Given the description of an element on the screen output the (x, y) to click on. 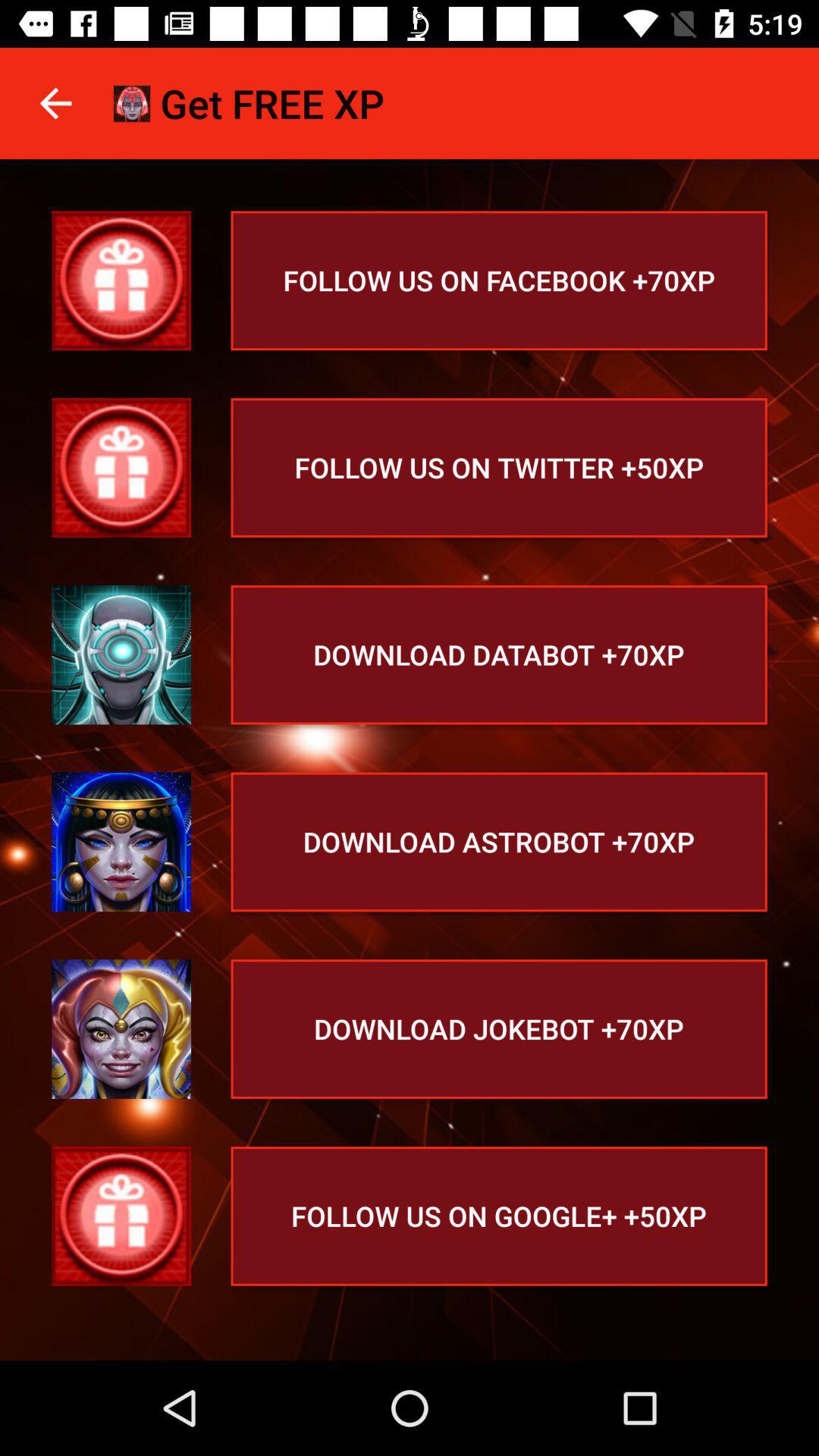
switch to pickup gifts (121, 280)
